Given the description of an element on the screen output the (x, y) to click on. 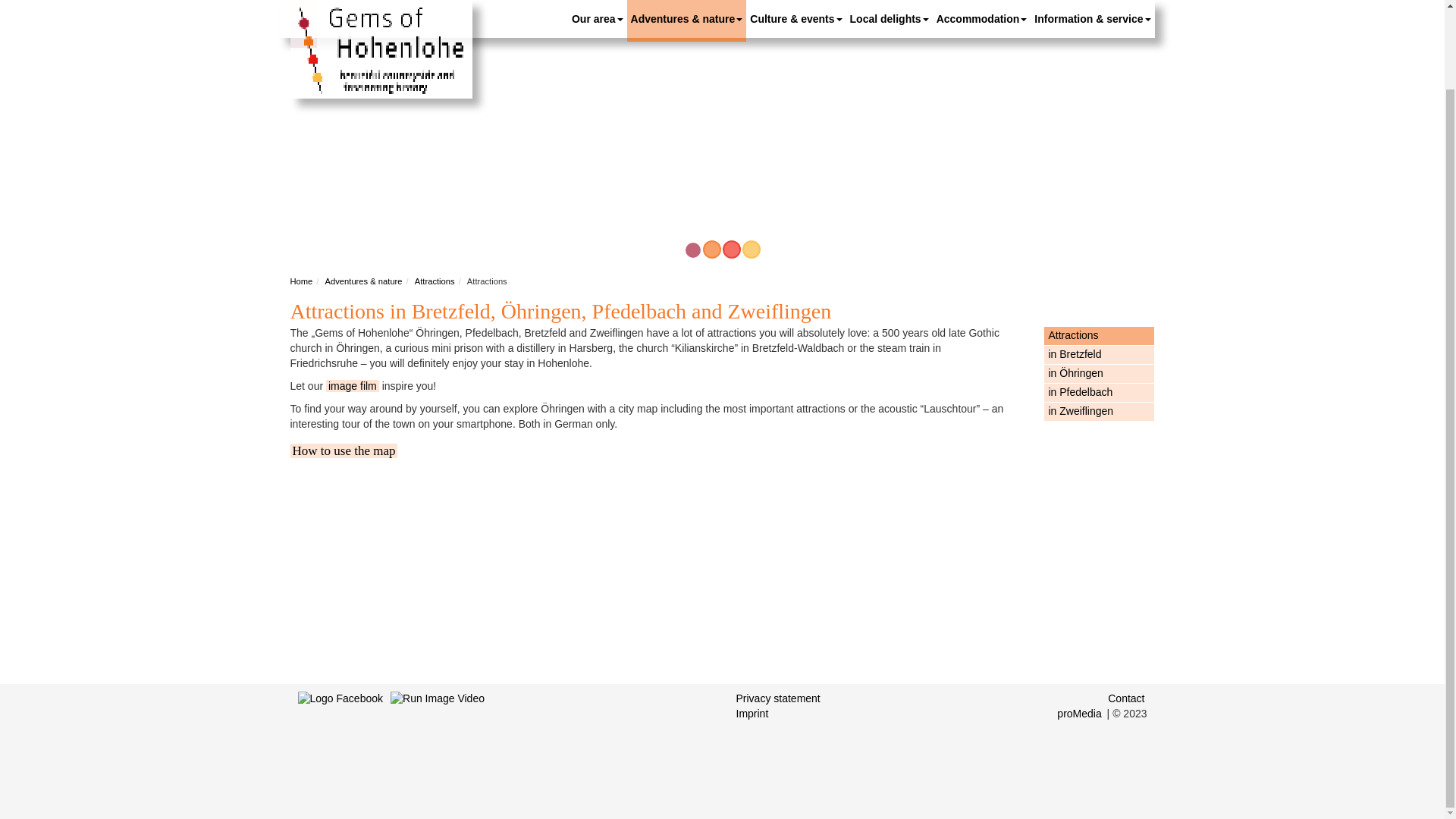
How to use the mapn (343, 450)
Design and development proMedia (1080, 713)
See privacy statement (777, 698)
See Imprint (752, 713)
Image Video (437, 727)
Opens link in new window (352, 386)
Contact (1126, 698)
